Given the description of an element on the screen output the (x, y) to click on. 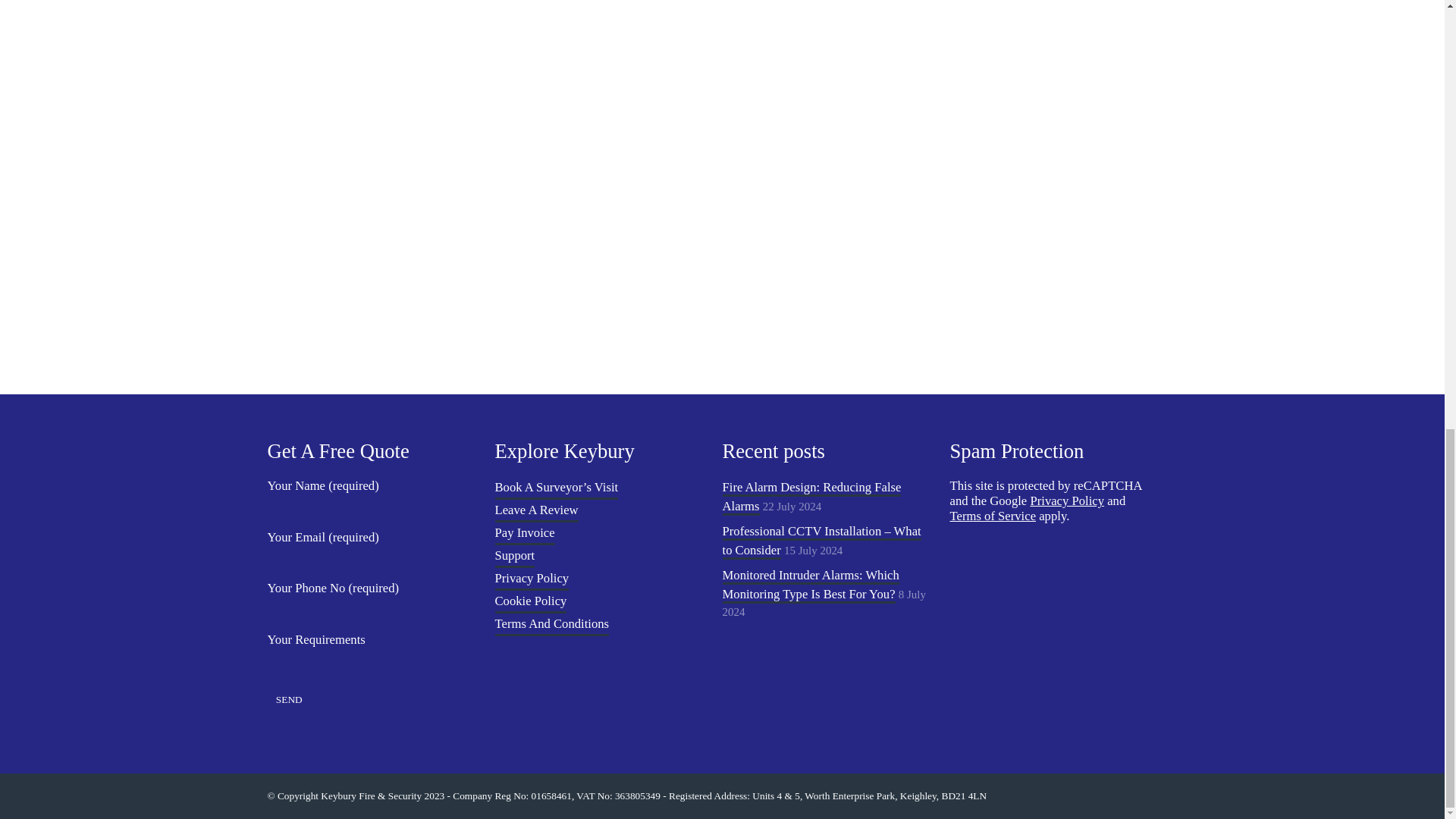
Send (288, 699)
Send (288, 699)
